Given the description of an element on the screen output the (x, y) to click on. 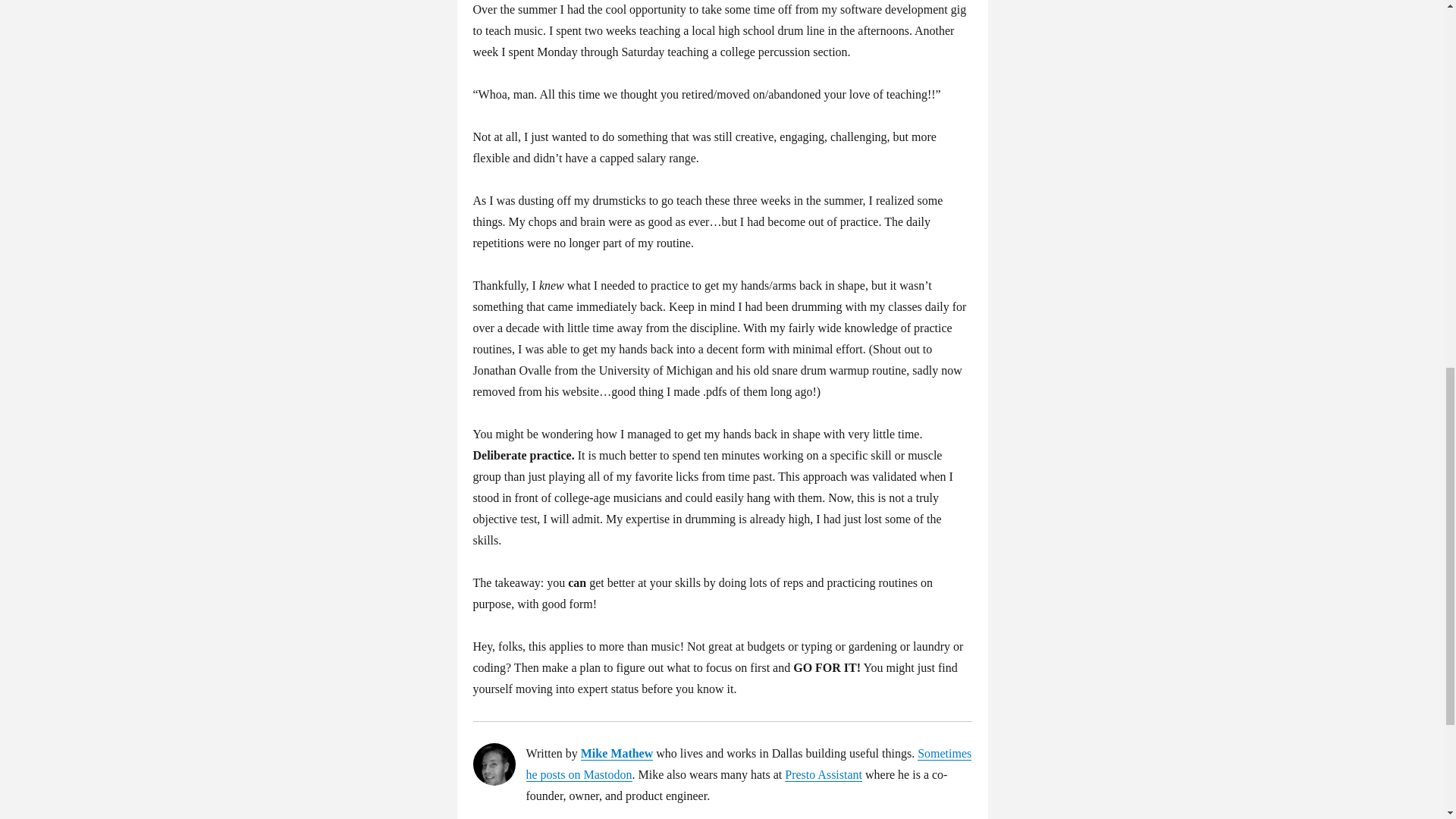
Mike Mathew (616, 753)
Sometimes he posts on Mastodon (748, 763)
Presto Assistant (822, 774)
